Given the description of an element on the screen output the (x, y) to click on. 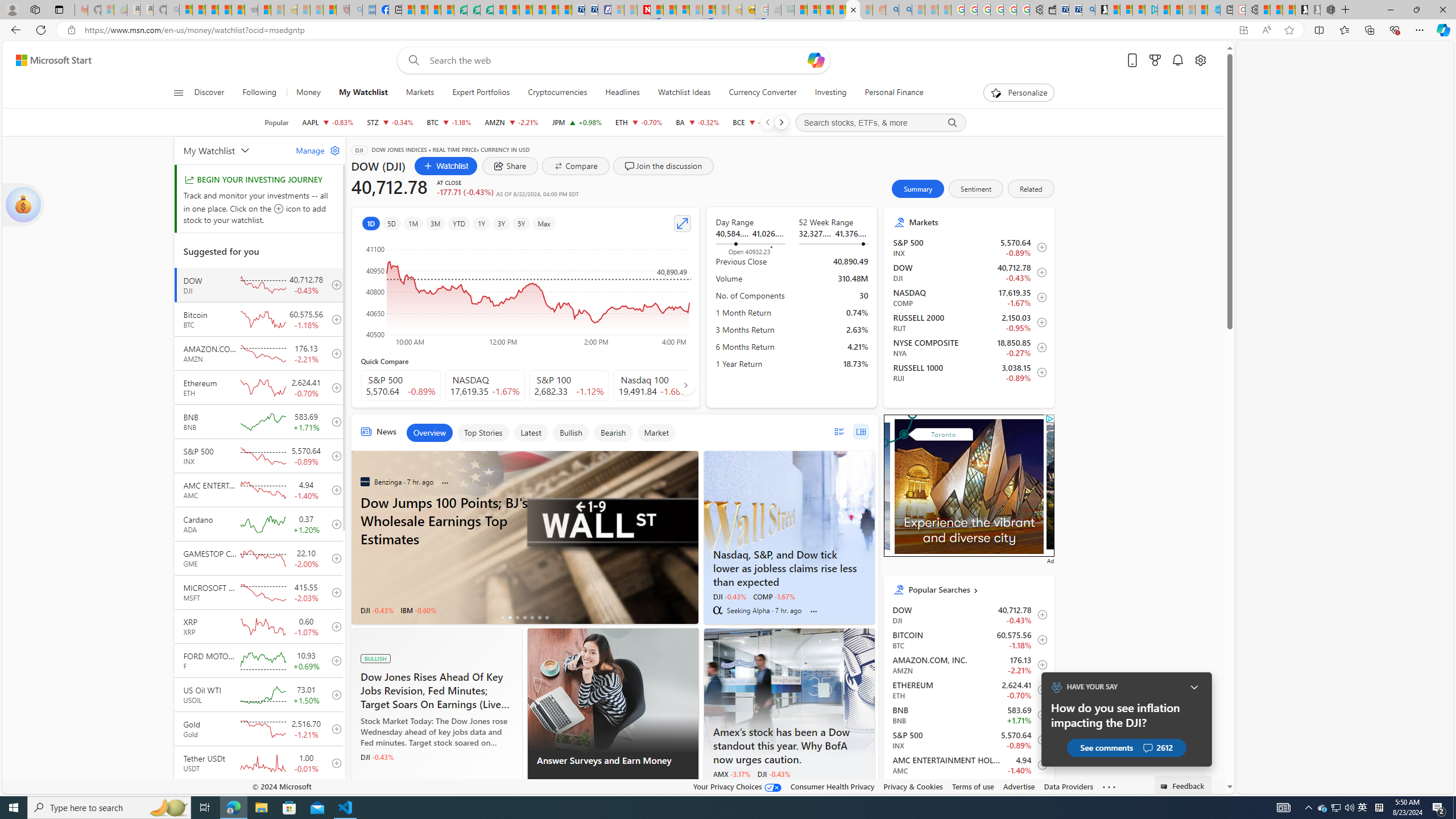
Answer Surveys and Earn Money (612, 690)
Sentiment (976, 188)
3M (435, 223)
1M (413, 223)
STZ CONSTELLATION BRANDS, INC. decrease 243.92 -0.82 -0.34% (389, 122)
